Given the description of an element on the screen output the (x, y) to click on. 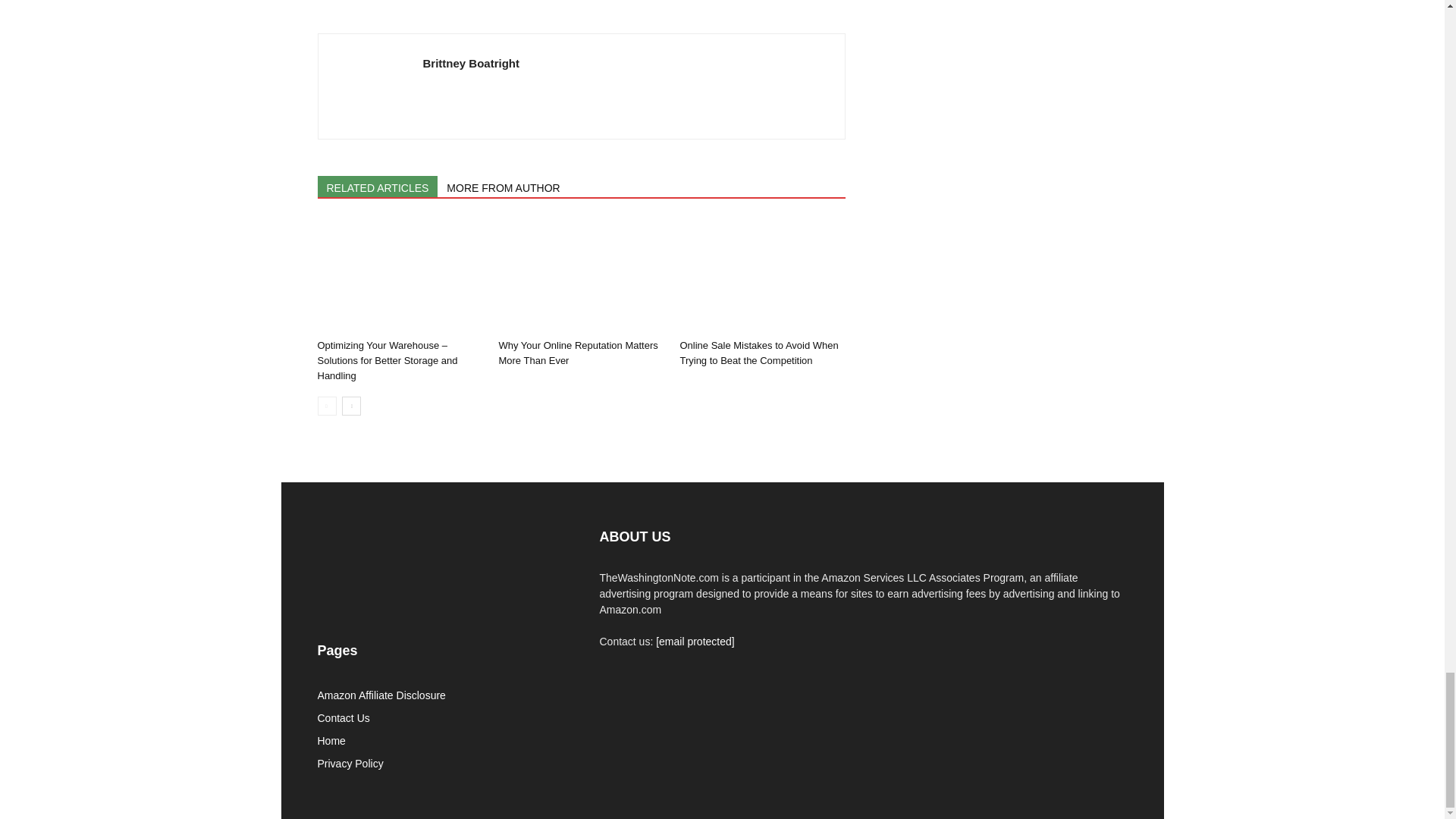
Why Your Online Reputation Matters More Than Ever (577, 352)
Why Your Online Reputation Matters More Than Ever (580, 275)
